Given the description of an element on the screen output the (x, y) to click on. 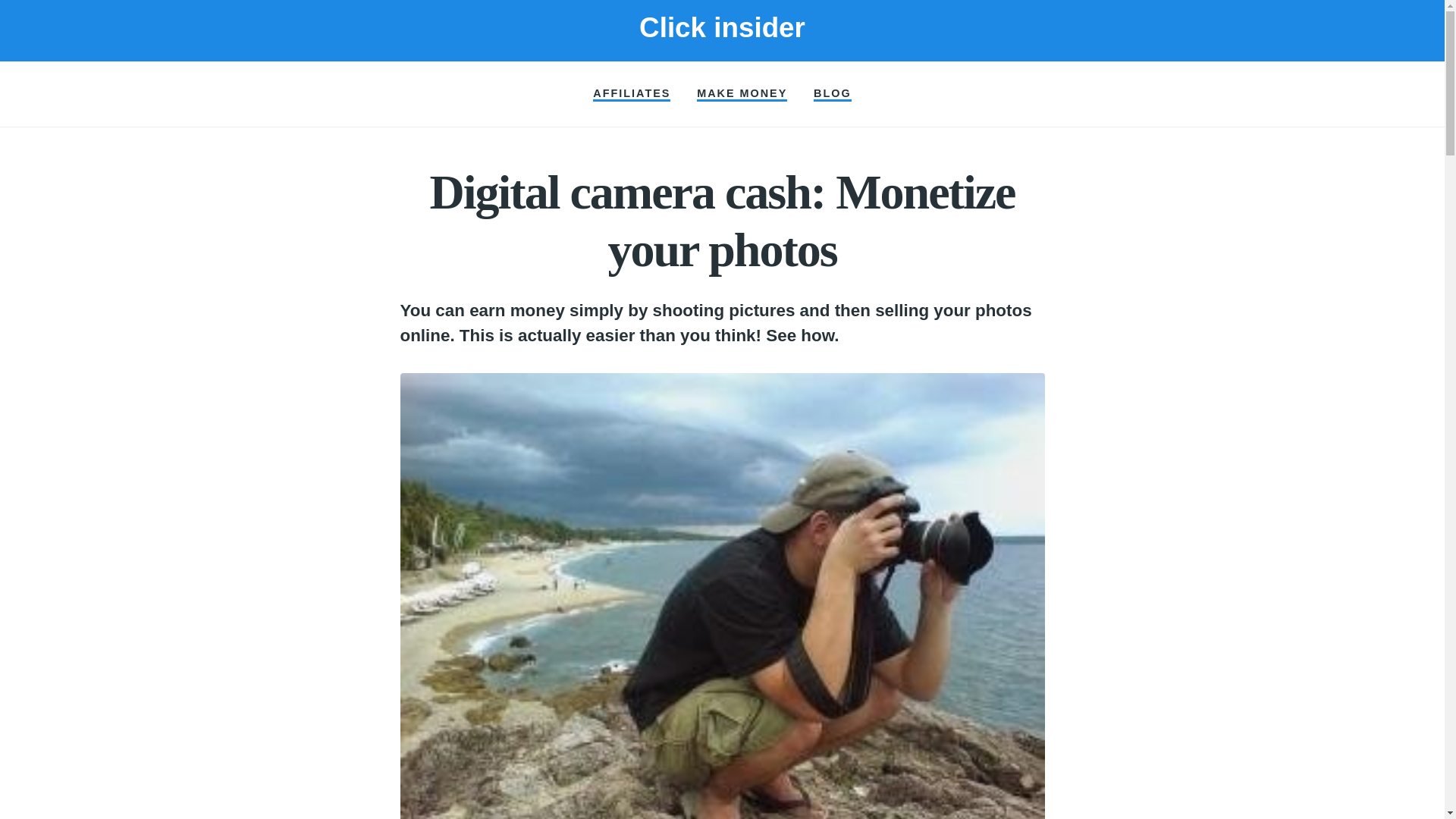
MAKE MONEY (742, 93)
BLOG (832, 93)
Click insider (722, 27)
AFFILIATES (630, 93)
